Given the description of an element on the screen output the (x, y) to click on. 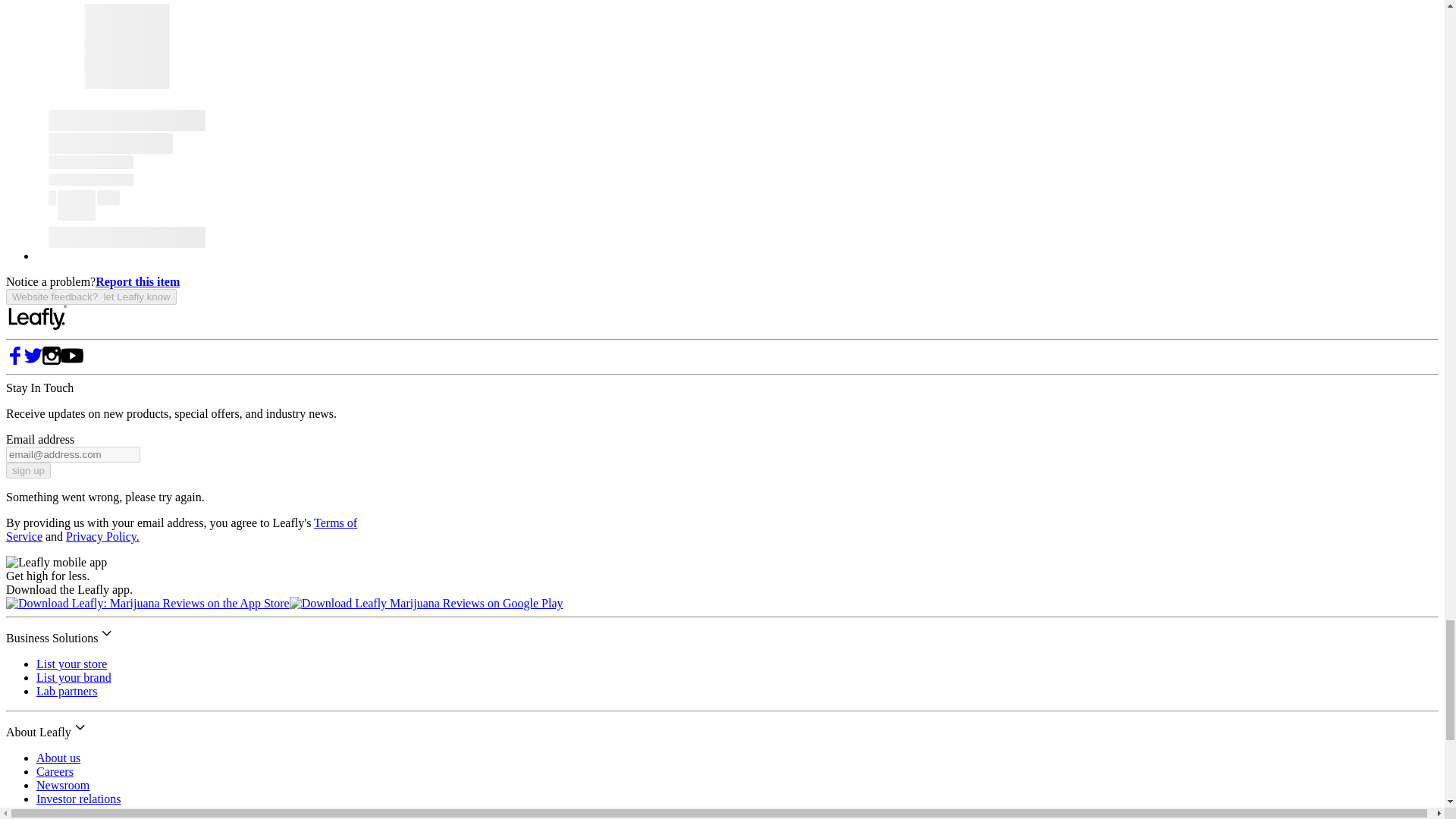
Leafly on Facebook (14, 359)
Leafly on Twitter (33, 359)
Leafly on YouTube (71, 359)
Leafly on the App Store (147, 603)
Leafly on Instagram (51, 359)
Leafly on Google Play (426, 603)
